Given the description of an element on the screen output the (x, y) to click on. 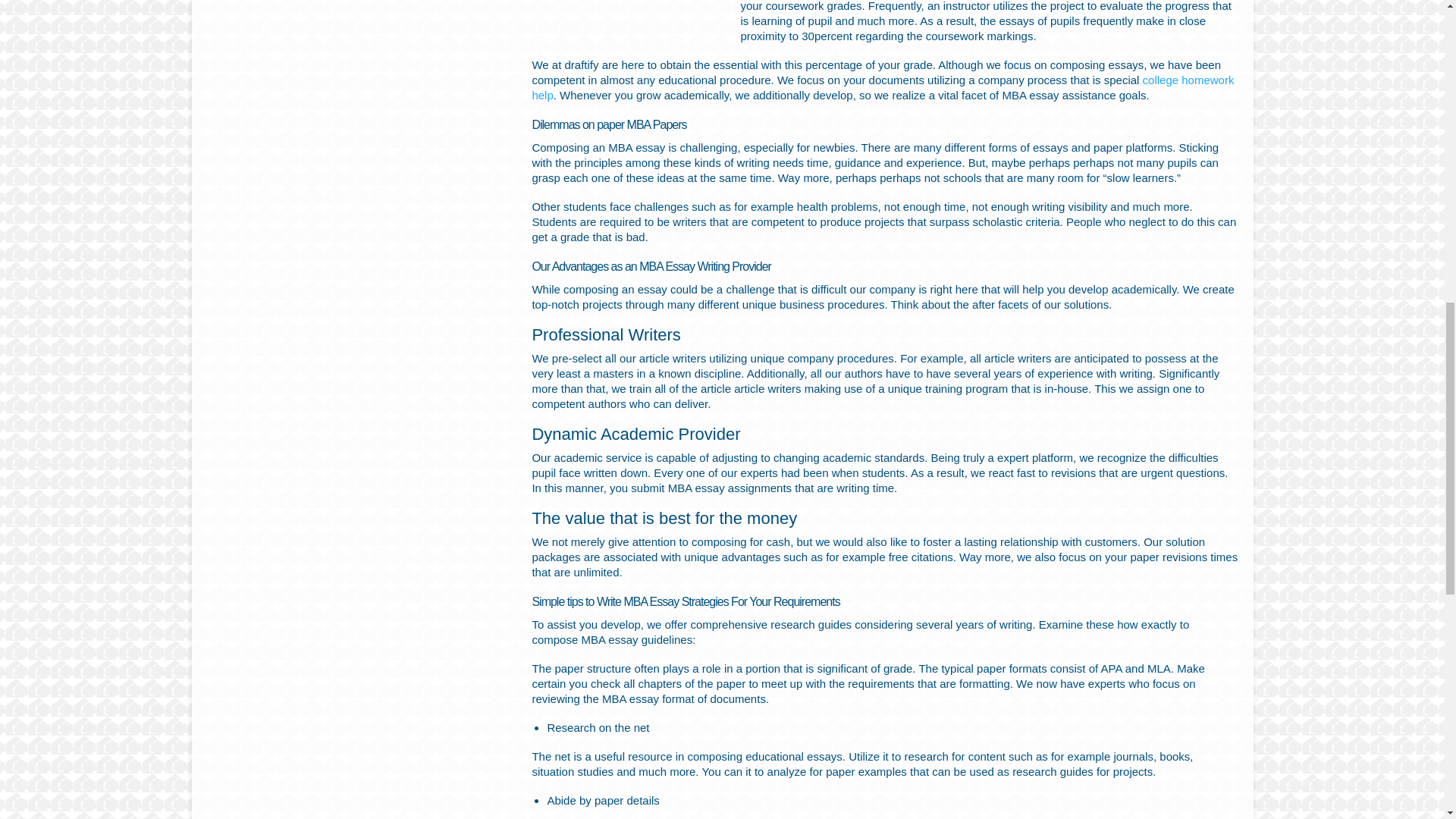
college homework help (882, 87)
